Given the description of an element on the screen output the (x, y) to click on. 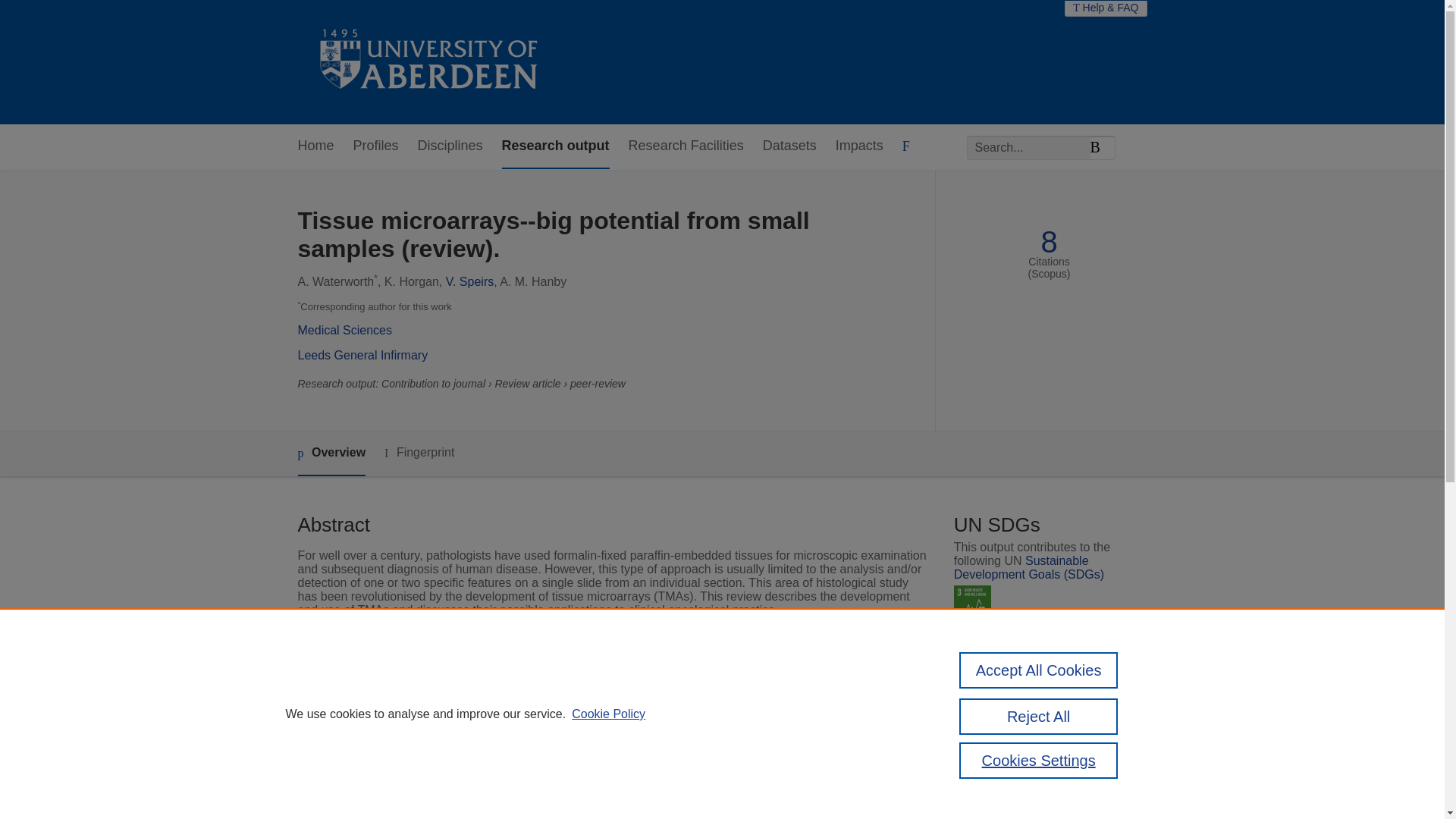
V. Speirs (469, 281)
Research output (556, 146)
Home (315, 146)
Overview (331, 453)
International Journal of Oncology (597, 700)
The University of Aberdeen Research Portal Home (429, 61)
SDG 3 - Good Health and Well-being (972, 603)
Fingerprint (419, 453)
Link to publication in Scopus (1045, 667)
Research Facilities (686, 146)
Leeds General Infirmary (362, 354)
Datasets (789, 146)
Profiles (375, 146)
Impacts (859, 146)
